Given the description of an element on the screen output the (x, y) to click on. 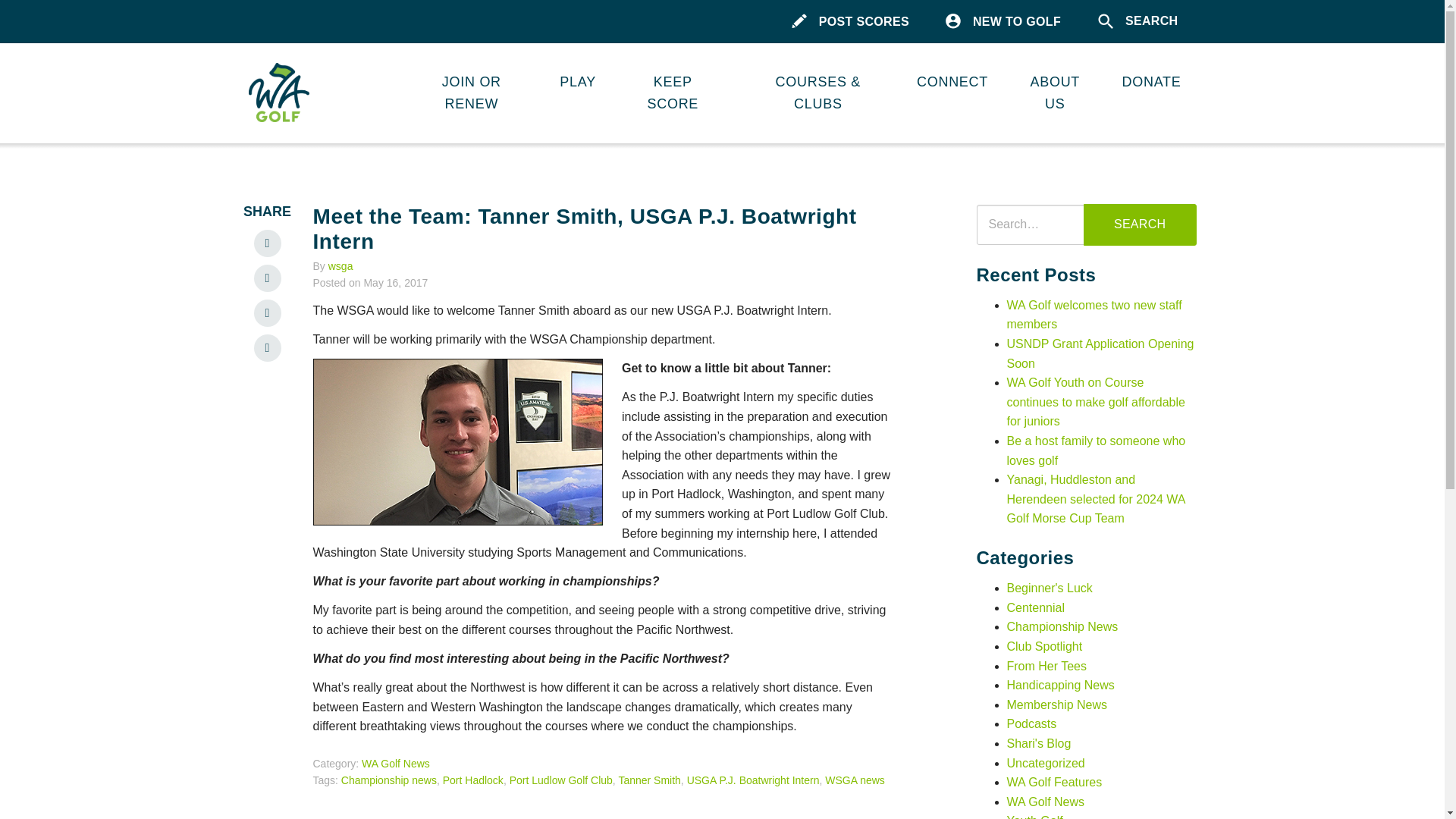
JOIN OR RENEW (470, 93)
Twitter (267, 312)
Facebook (267, 277)
POST SCORES (850, 21)
LinkedIn (267, 243)
NEW TO GOLF (1002, 21)
SEARCH (1137, 21)
KEEP SCORE (673, 93)
Email (267, 347)
